Given the description of an element on the screen output the (x, y) to click on. 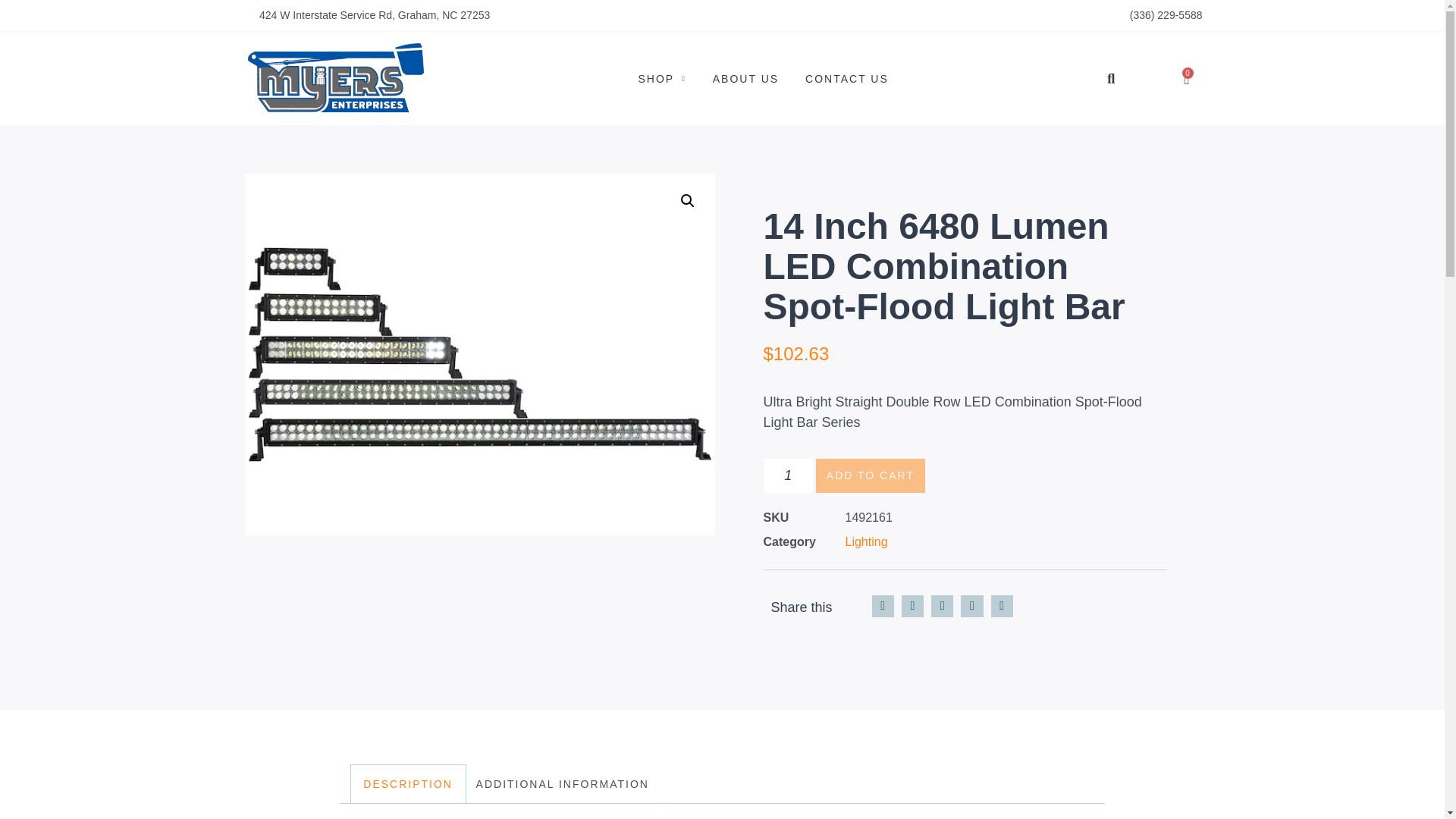
1 (787, 475)
ADD TO CART (869, 475)
Lighting (865, 541)
SHOP (662, 78)
ABOUT US (745, 78)
CONTACT US (846, 78)
